Given the description of an element on the screen output the (x, y) to click on. 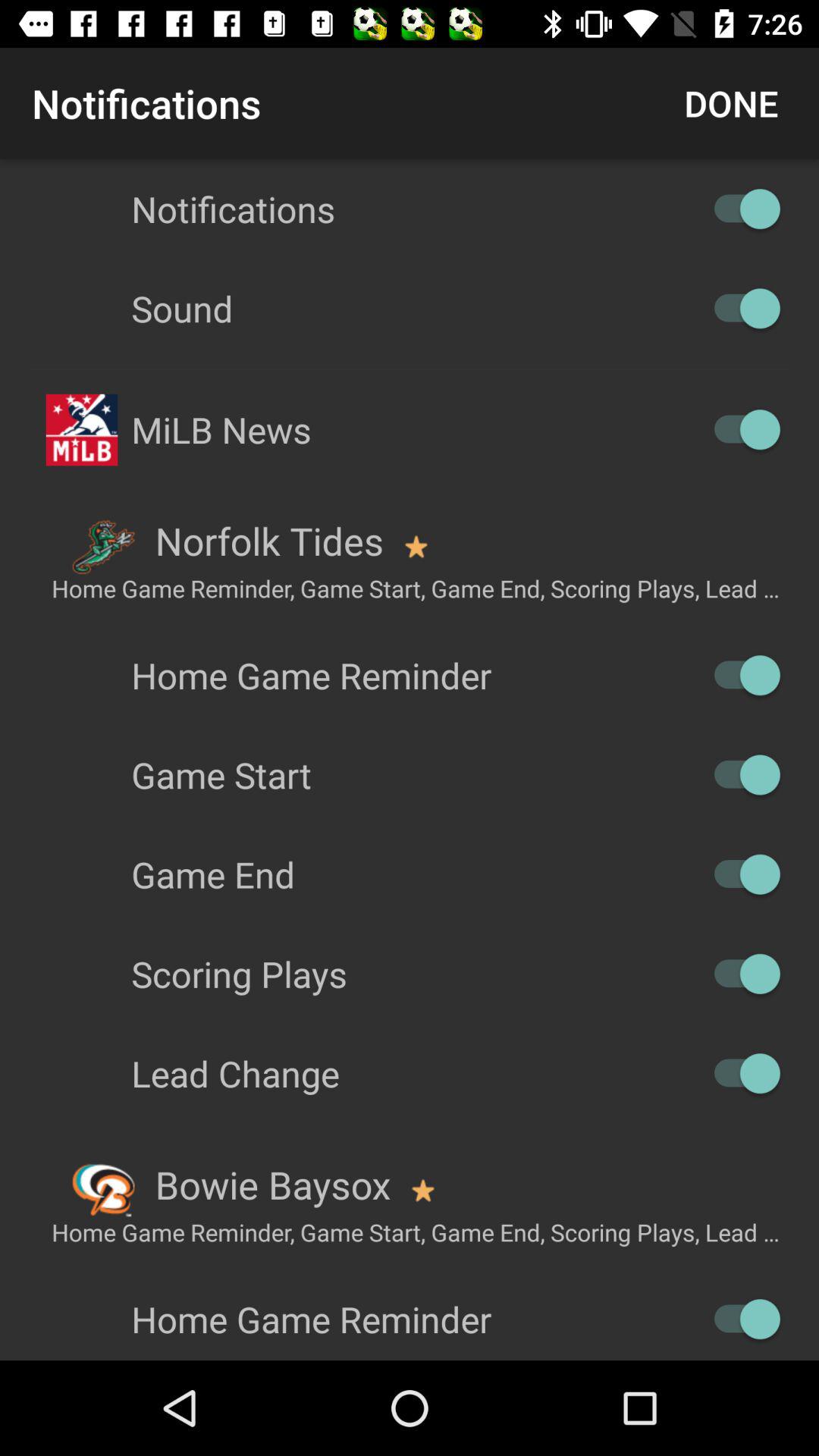
enable switch (739, 675)
